Given the description of an element on the screen output the (x, y) to click on. 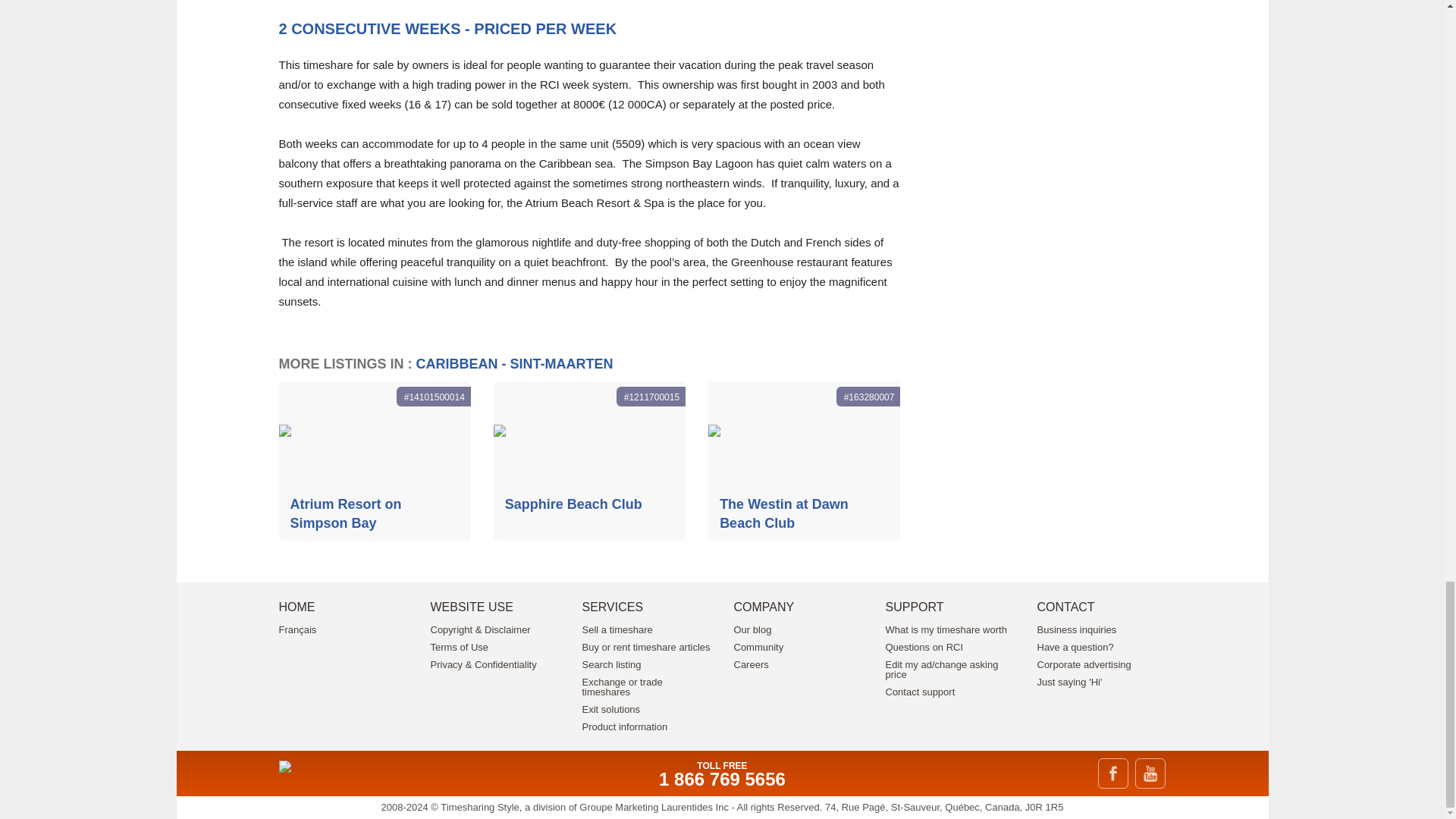
Our blog (752, 629)
Terms of Use (459, 646)
Buy or rent timeshare articles (646, 646)
Youtube (1150, 773)
Exchange or trade timeshares (622, 686)
Sell a timeshare (617, 629)
What is my timeshare worth (946, 629)
Exit solutions (611, 708)
Product information (625, 726)
Community (758, 646)
Questions on RCI (924, 646)
Careers (750, 664)
Search listing (612, 664)
Facebook (1112, 773)
